Given the description of an element on the screen output the (x, y) to click on. 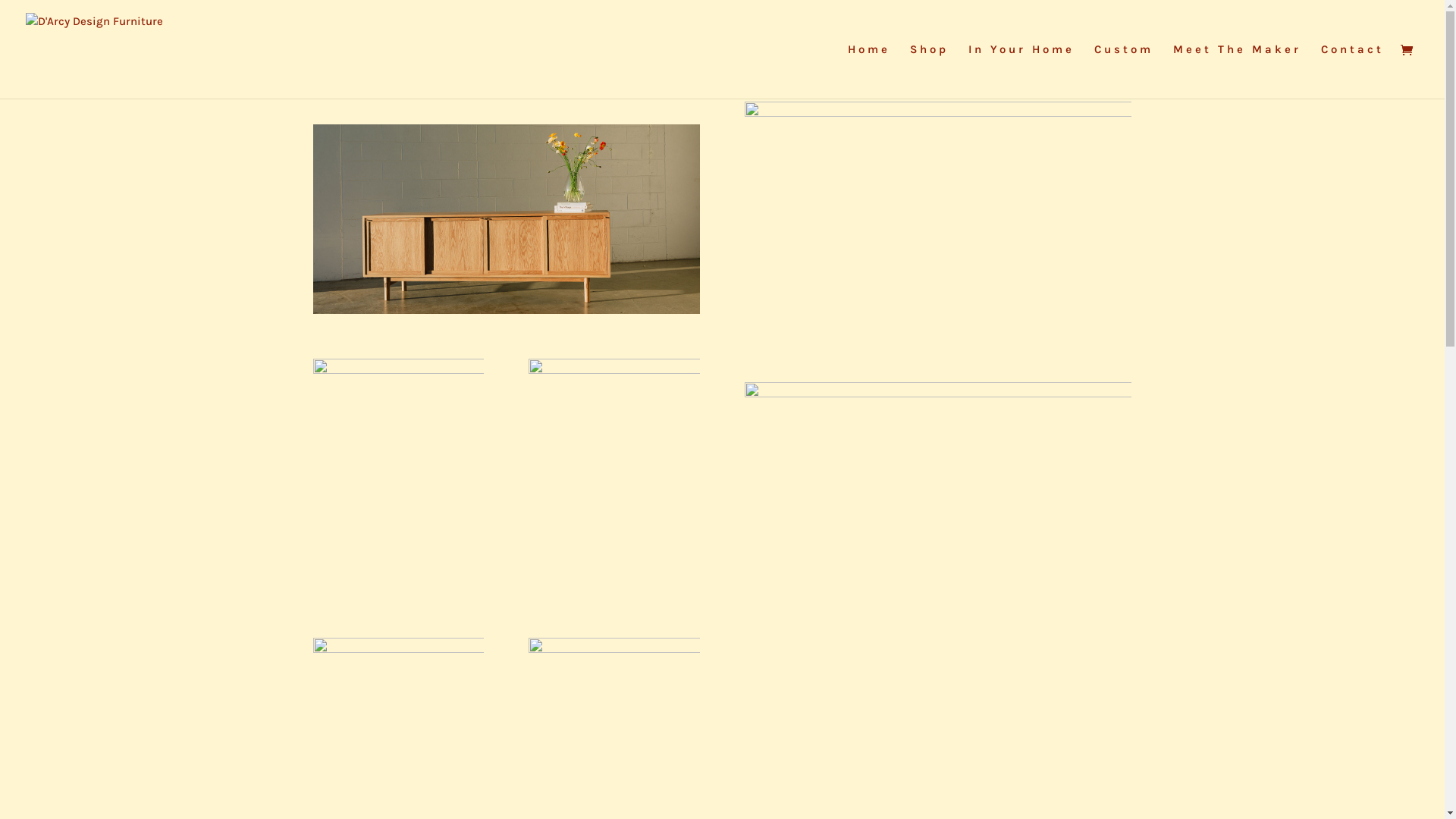
Custom Element type: text (1123, 70)
Darcydesign_06-2021_1-2715 Element type: hover (505, 218)
Darcydesign_06-2021_1-2673 Element type: hover (613, 486)
In Your Home Element type: text (1021, 70)
darcydesign 02-2021-3627 Element type: hover (937, 511)
Darcydesign_06-2021_1-2782 Element type: hover (937, 230)
Home Element type: text (868, 70)
IMG_0052 Element type: hover (613, 696)
darcydesign 02-2021-3712 Element type: hover (397, 486)
Contact Element type: text (1352, 70)
lounge-close-up Element type: hover (397, 688)
Shop Element type: text (929, 70)
Meet The Maker Element type: text (1237, 70)
